Given the description of an element on the screen output the (x, y) to click on. 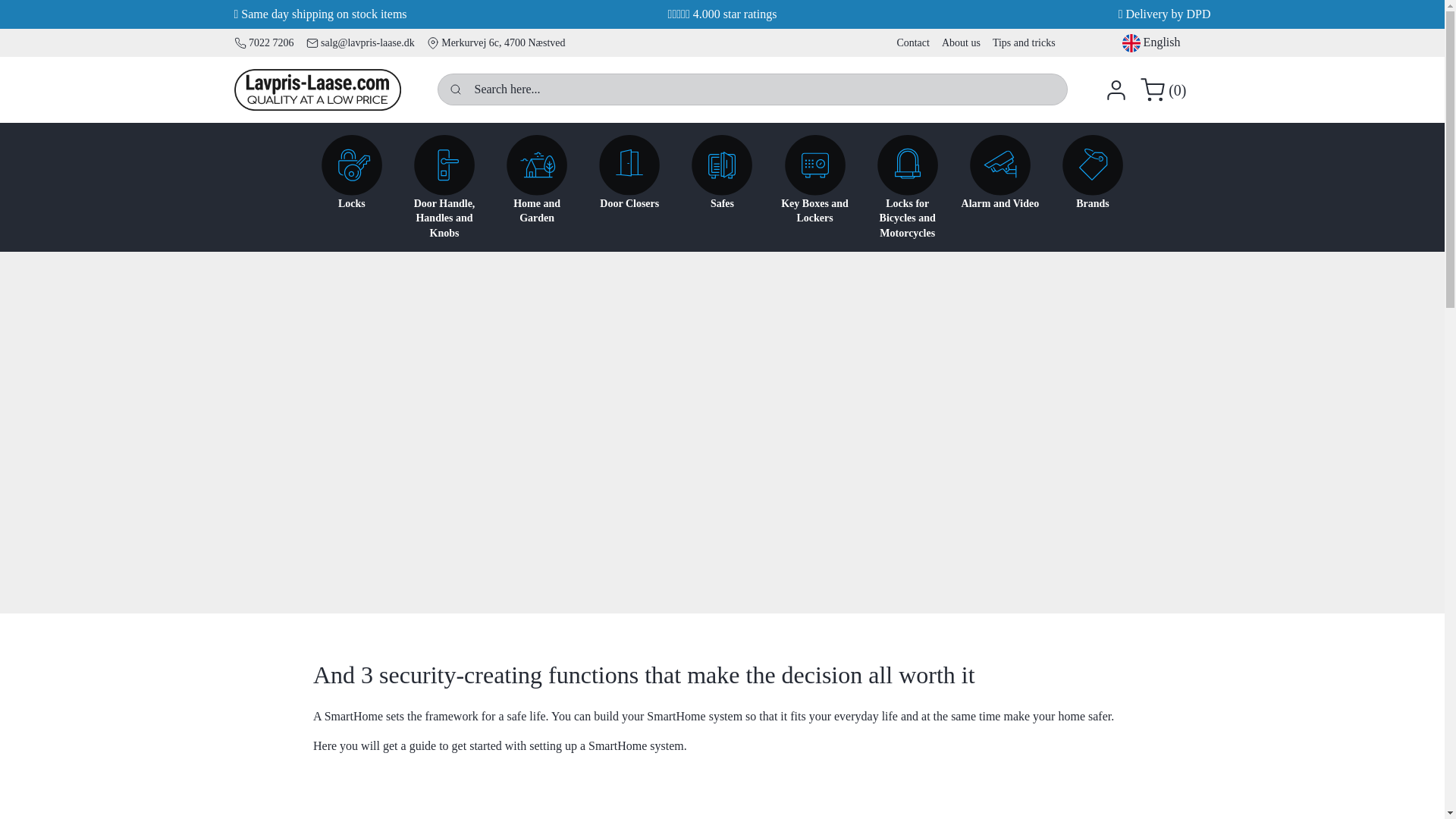
Locks (351, 189)
About us (961, 42)
7022 7206 (263, 42)
Contact (912, 42)
Tips and tricks (1024, 42)
